Given the description of an element on the screen output the (x, y) to click on. 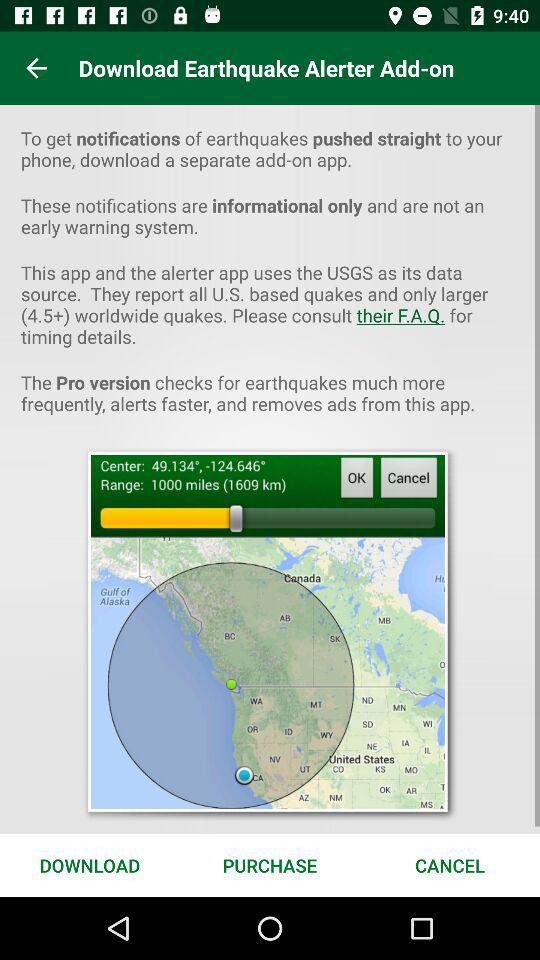
turn on item next to download item (270, 864)
